Given the description of an element on the screen output the (x, y) to click on. 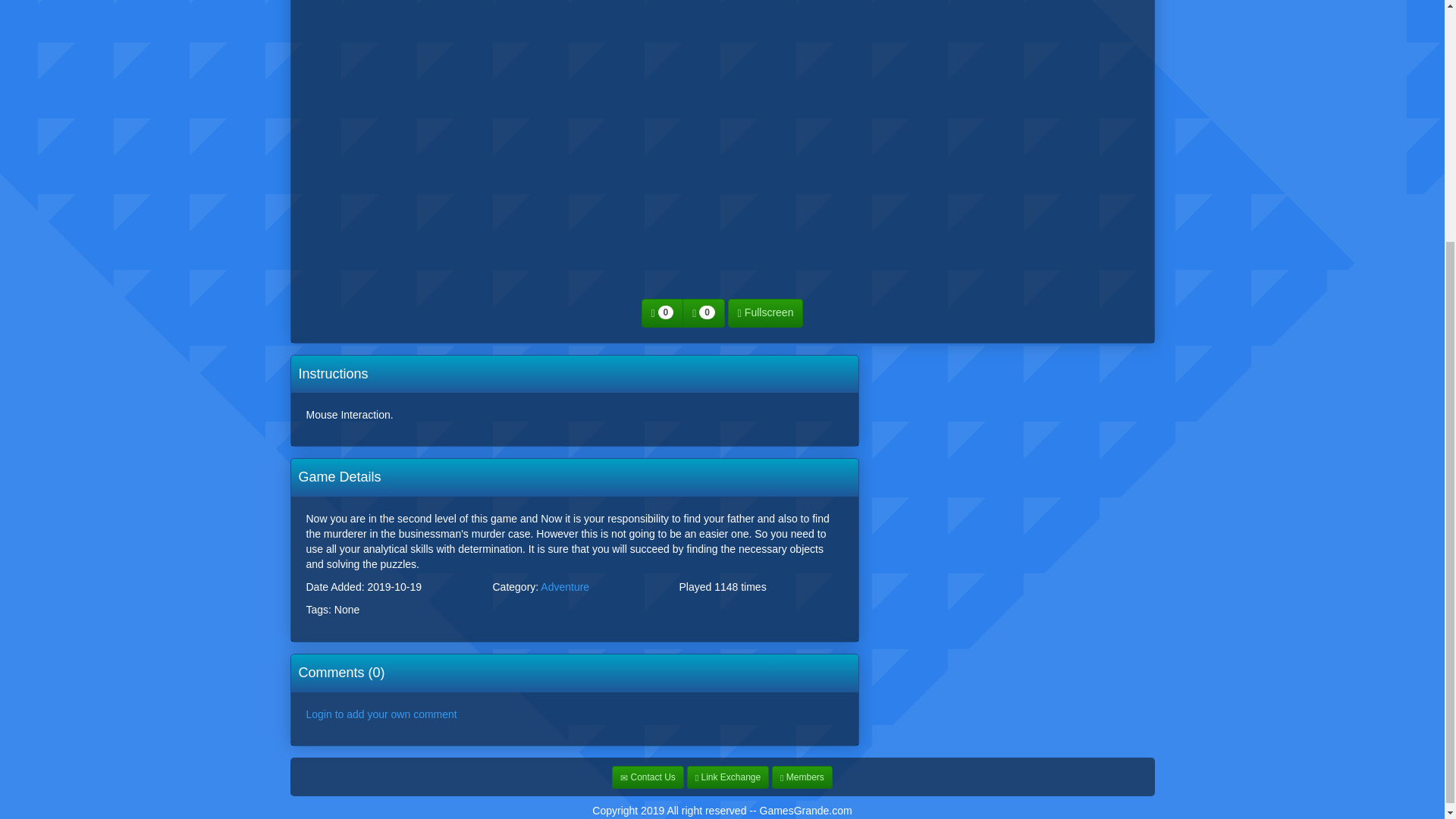
0 (663, 312)
Link Exchange (727, 776)
Login to add your own comment (381, 714)
Contact Us (647, 776)
Members (801, 776)
Adventure (564, 586)
0 (703, 312)
Fullscreen (765, 312)
